Given the description of an element on the screen output the (x, y) to click on. 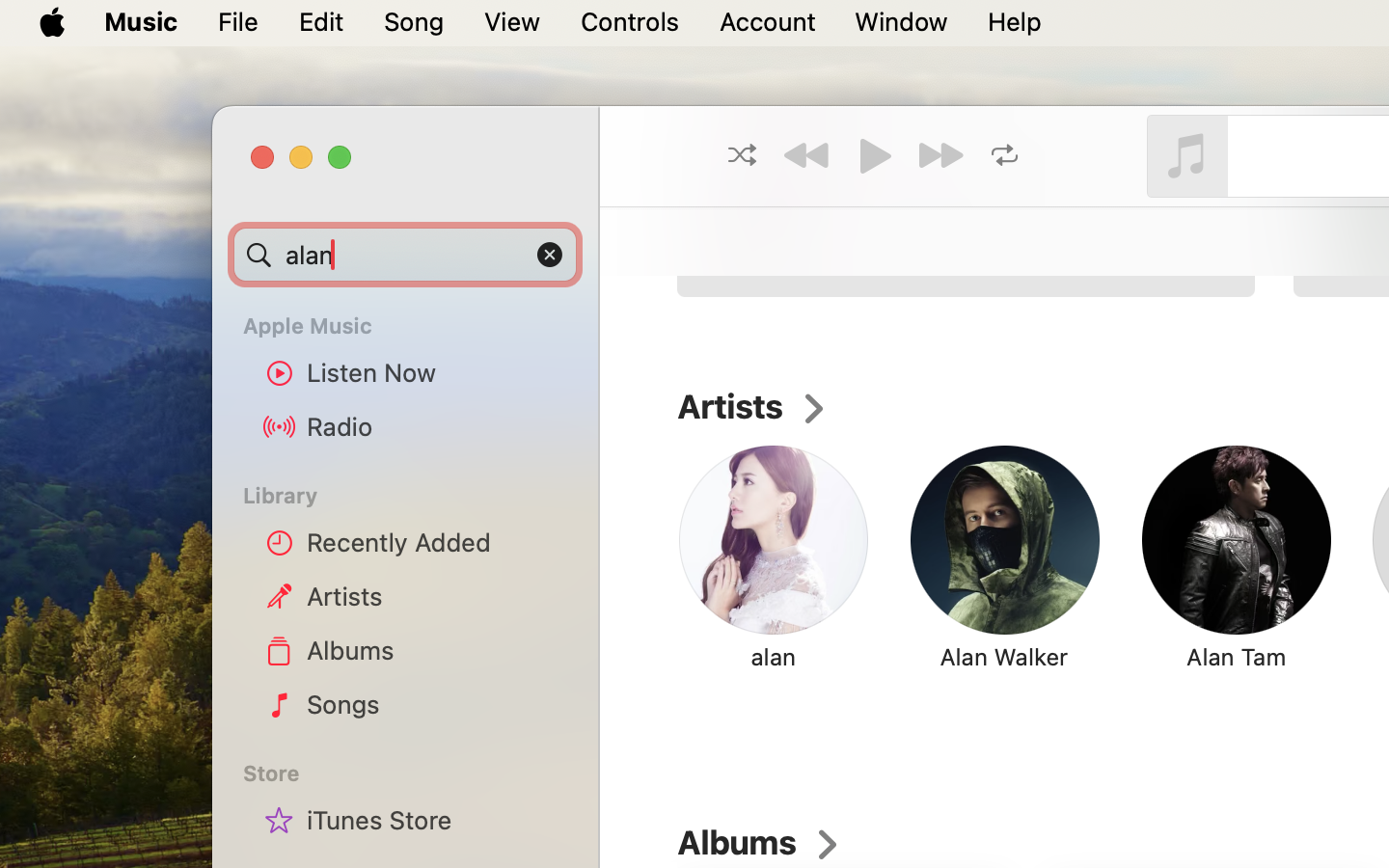
Recently Added Element type: AXStaticText (434, 541)
Alan Tam Element type: AXStaticText (1236, 656)
Artists Element type: AXStaticText (434, 595)
Listen Now Element type: AXStaticText (434, 371)
alan Element type: AXStaticText (773, 656)
